Given the description of an element on the screen output the (x, y) to click on. 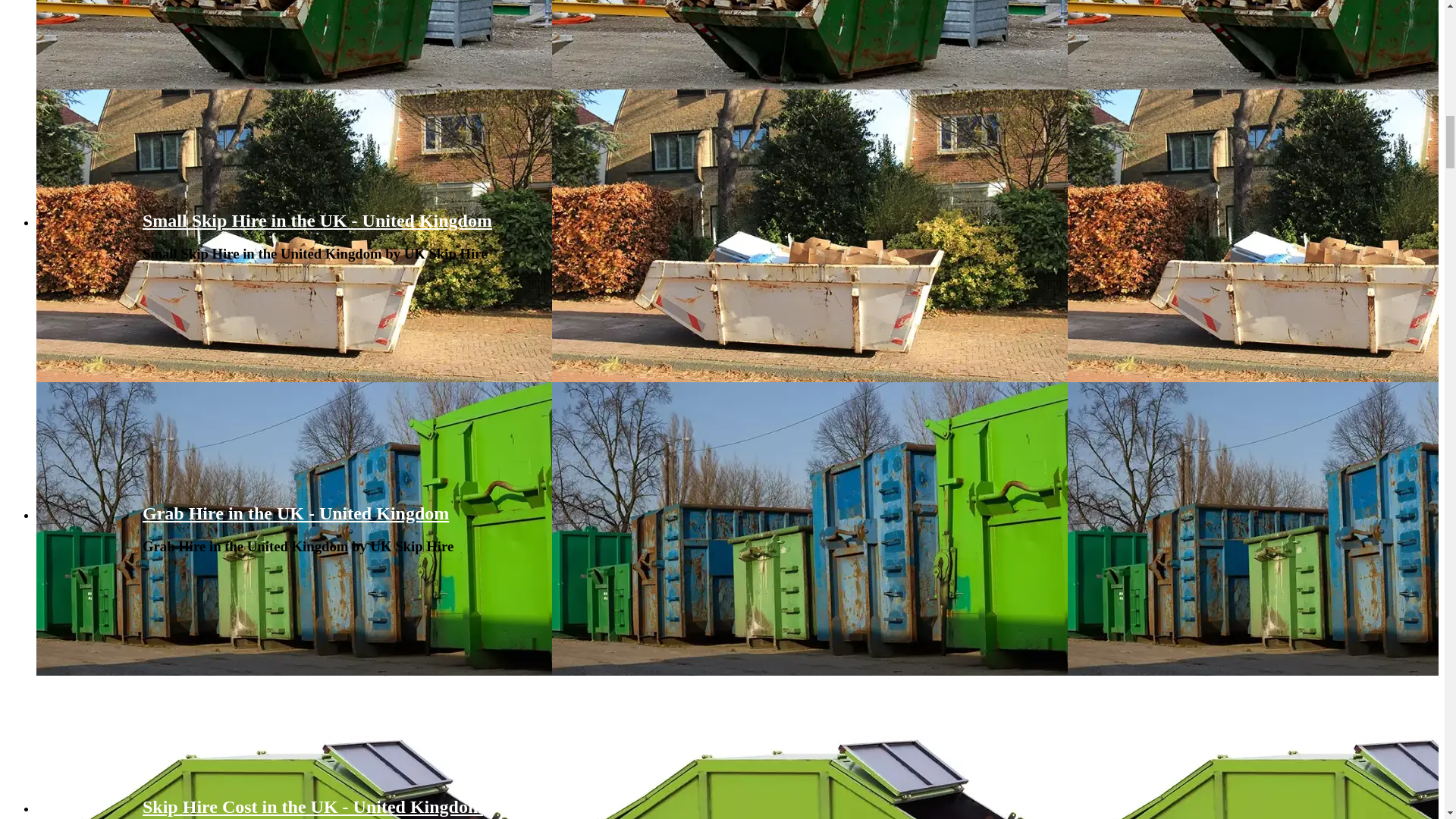
Skip Hire Cost in the UK - United Kingdom (312, 805)
Grab Hire in the UK - United Kingdom (295, 513)
Small Skip Hire in the UK - United Kingdom (317, 220)
